Given the description of an element on the screen output the (x, y) to click on. 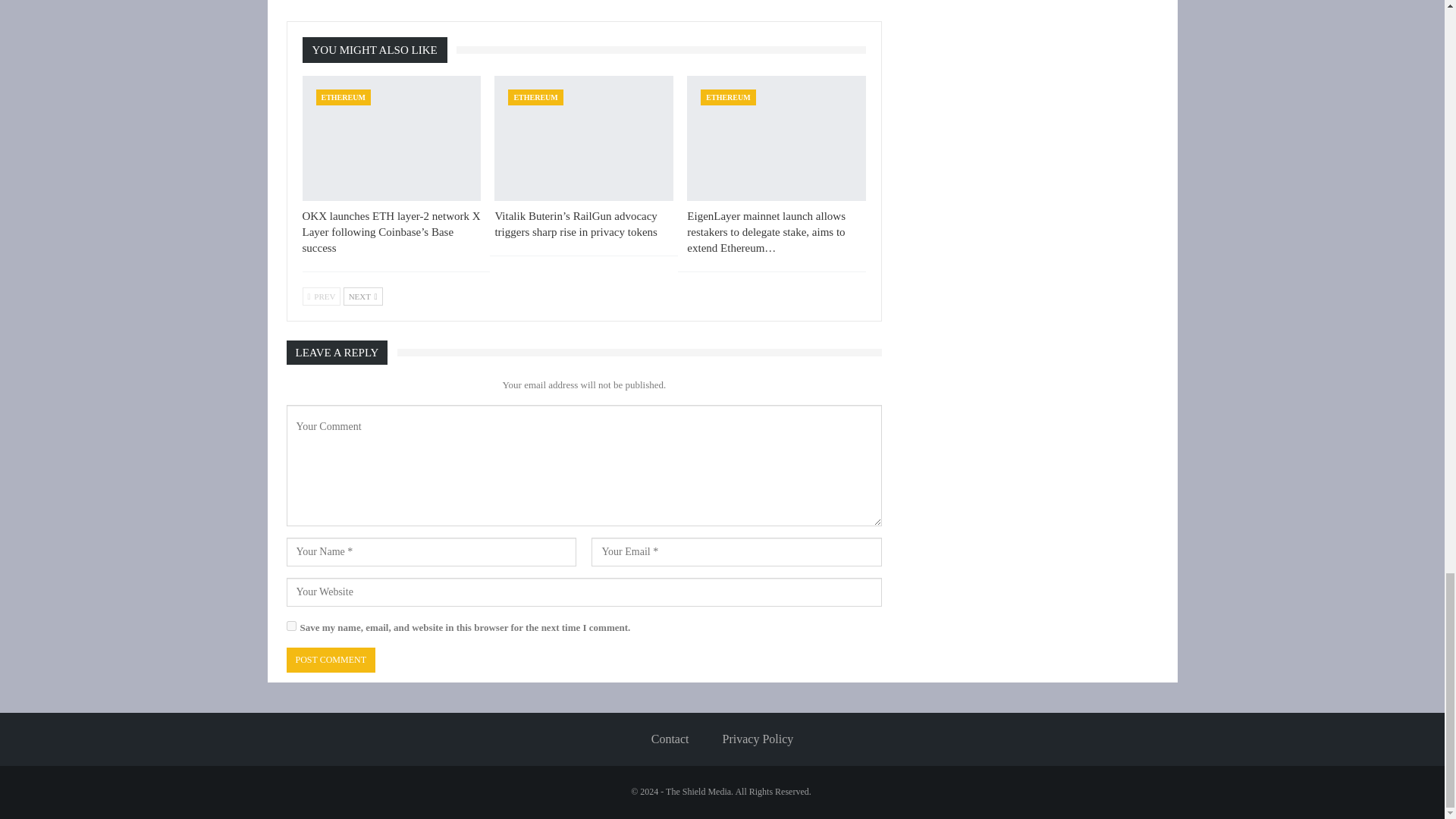
yes (291, 625)
Post Comment (330, 659)
